Given the description of an element on the screen output the (x, y) to click on. 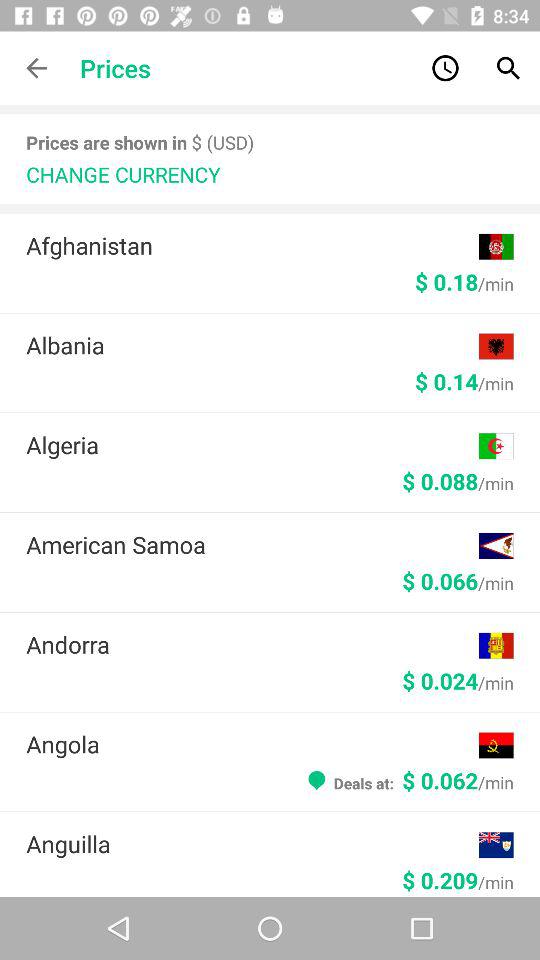
turn off icon below the $ 0.088/min (252, 544)
